Given the description of an element on the screen output the (x, y) to click on. 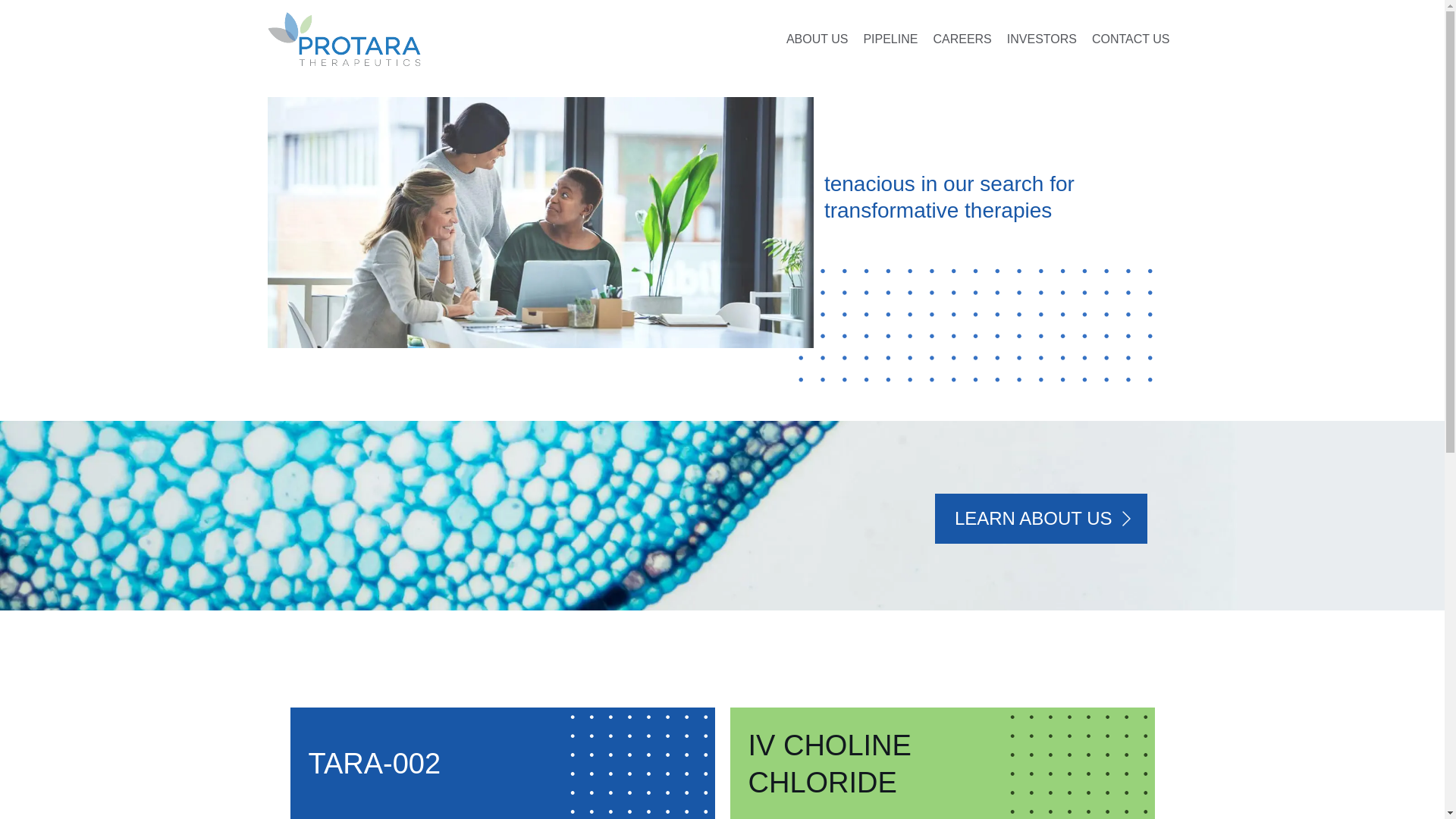
INVESTORS (1041, 39)
LEARN ABOUT US (1040, 518)
PIPELINE (890, 39)
CONTACT US (1130, 39)
ABOUT US (817, 39)
CAREERS (961, 39)
